Given the description of an element on the screen output the (x, y) to click on. 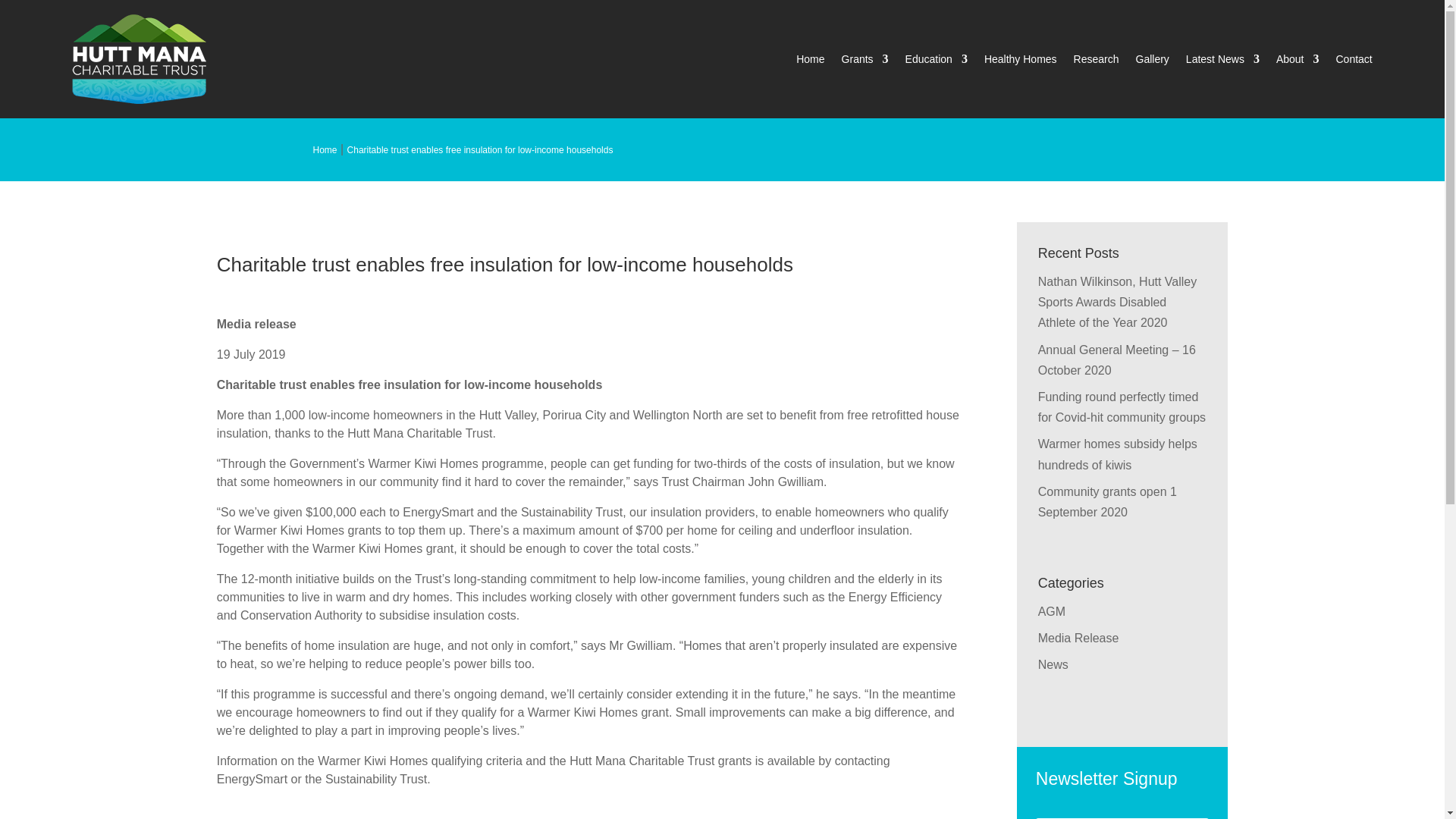
Community grants open 1 September 2020 (1107, 501)
Home (324, 149)
AGM (1051, 611)
Funding round perfectly timed for Covid-hit community groups (1121, 407)
News (1053, 664)
Media Release (1078, 637)
Warmer homes subsidy helps hundreds of kiwis (1117, 453)
